Given the description of an element on the screen output the (x, y) to click on. 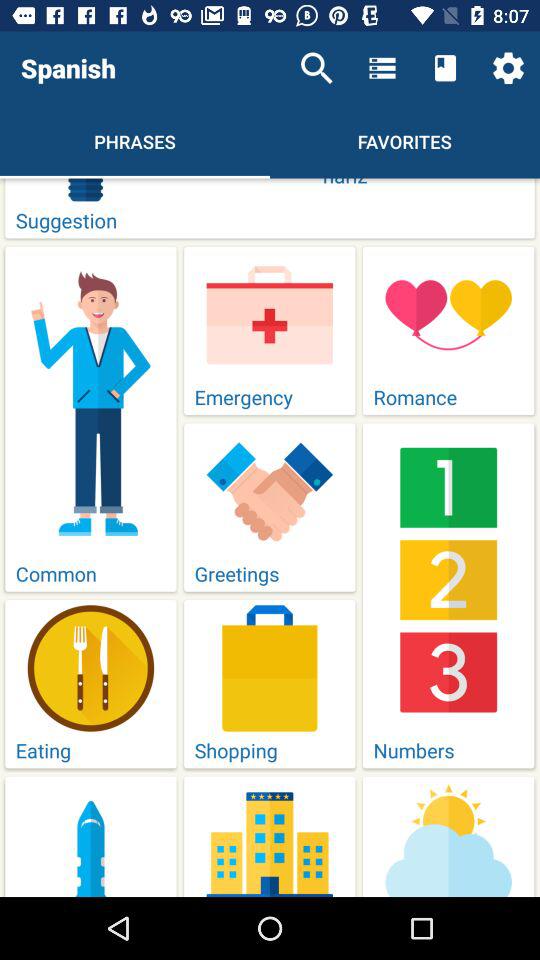
choose icon to the right of spanish item (316, 67)
